Given the description of an element on the screen output the (x, y) to click on. 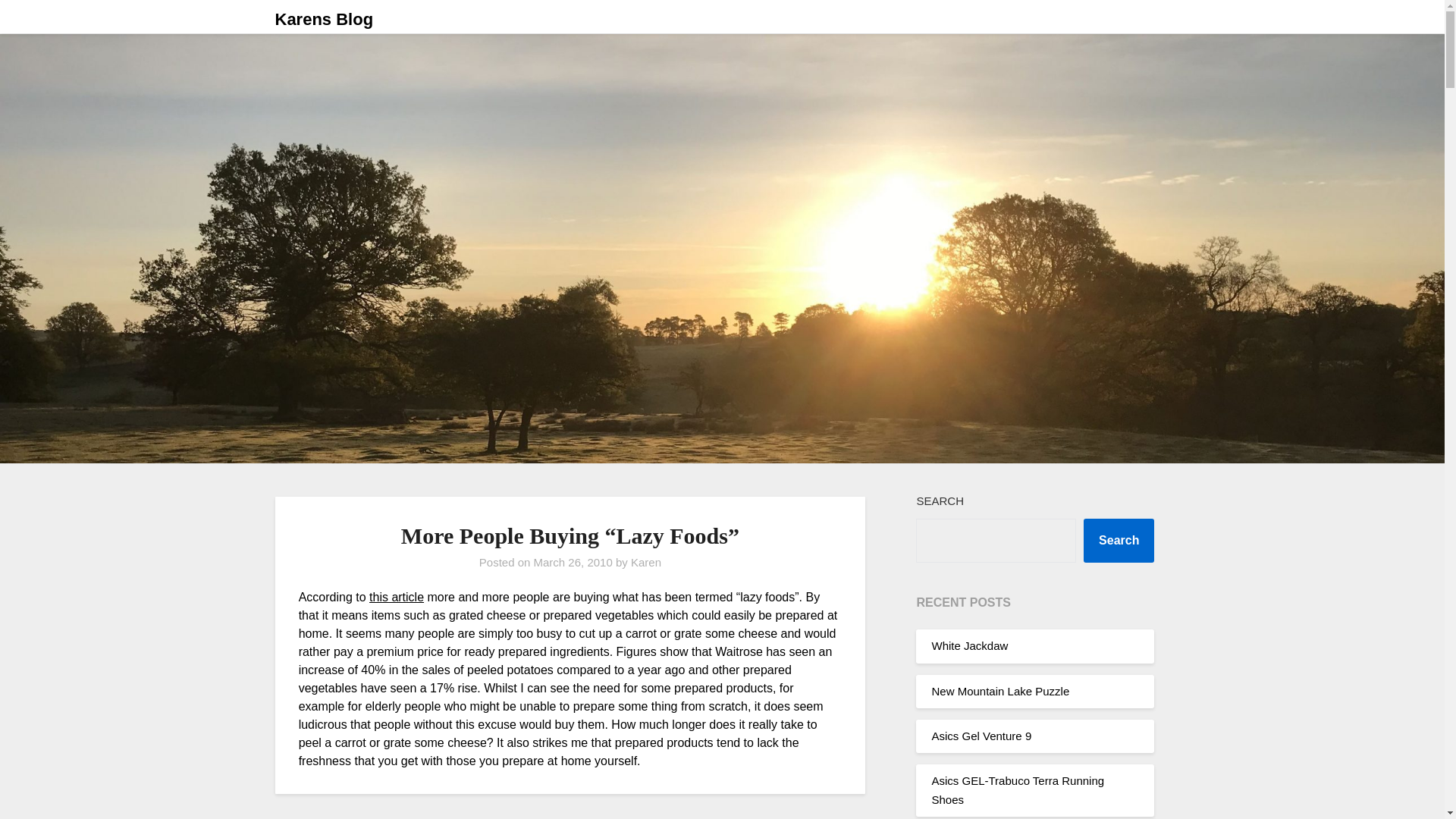
this article (396, 596)
Asics Gel Venture 9 (980, 735)
Asics GEL-Trabuco Terra Running Shoes (1017, 789)
Karens Blog (323, 19)
Karen (645, 562)
March 26, 2010 (573, 562)
New Mountain Lake Puzzle (999, 690)
White Jackdaw (969, 645)
Search (1118, 540)
